Given the description of an element on the screen output the (x, y) to click on. 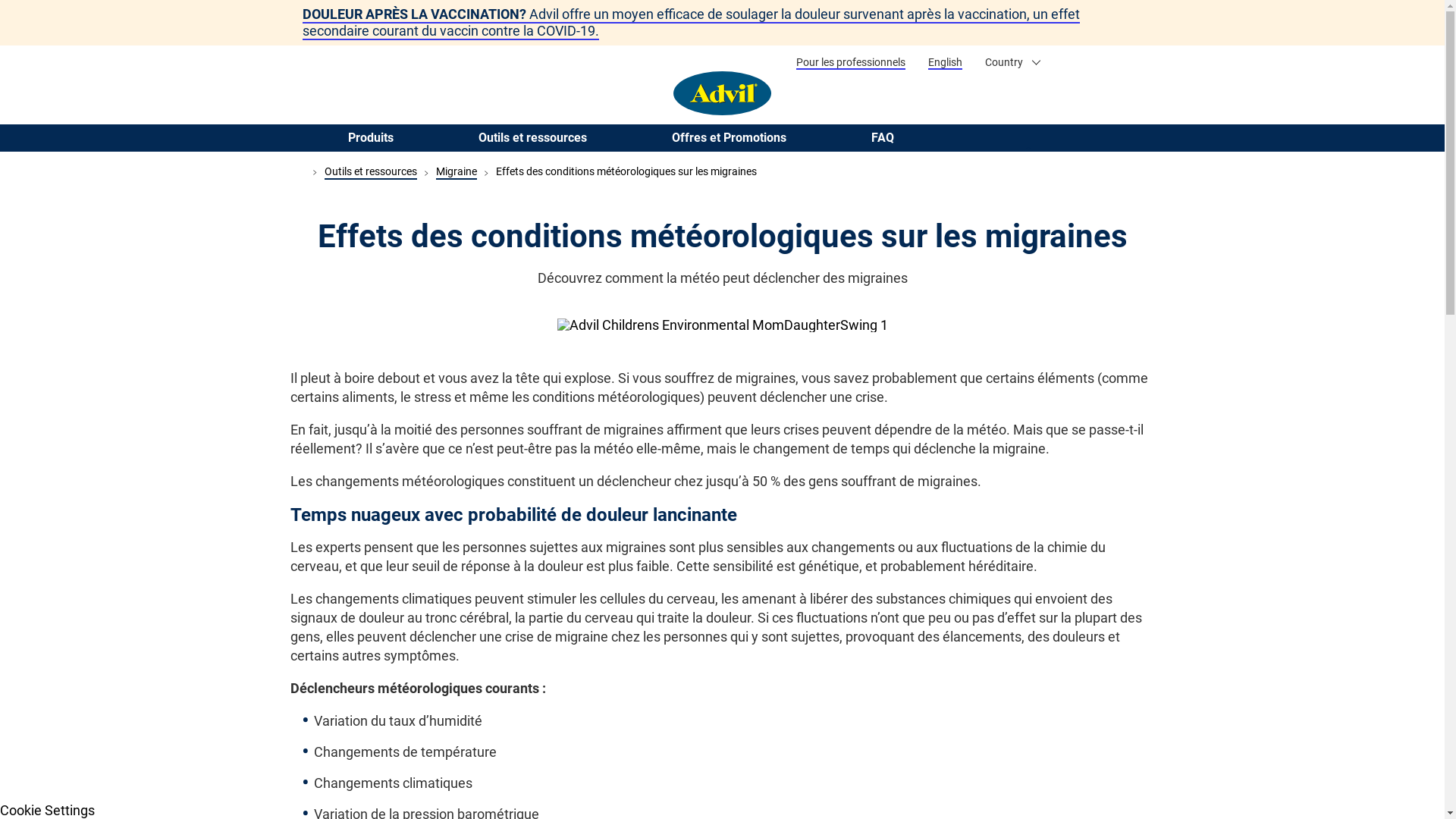
Haleon Element type: hover (1109, 60)
Homepage (CA-FR) Element type: text (296, 171)
Outils et ressources Element type: text (370, 171)
Advil Canada Element type: hover (721, 93)
Outils et ressources Element type: text (531, 137)
Pour les professionnels Element type: text (850, 62)
Offres et Promotions Element type: text (728, 137)
English Element type: text (945, 62)
Migraine Element type: text (455, 171)
FAQ Element type: text (881, 137)
Advil Childrens Environmental MomDaughterSwing 1 Element type: hover (721, 325)
Produits Element type: text (369, 137)
aller Element type: text (1144, 105)
